Given the description of an element on the screen output the (x, y) to click on. 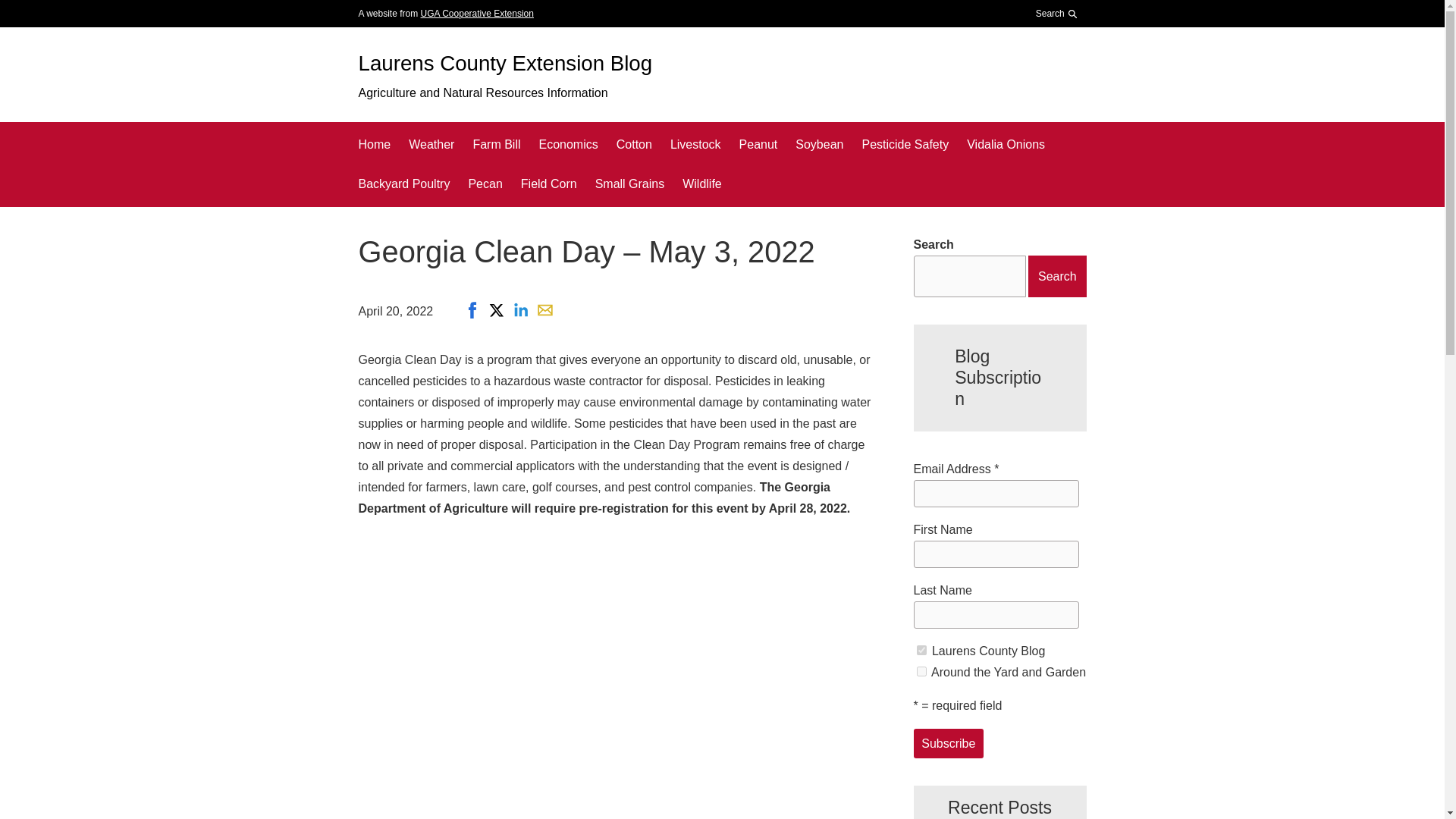
Pesticide Safety (905, 144)
Wildlife (702, 183)
Economics (567, 144)
Subscribe (948, 743)
cb9b200e51 (920, 650)
Share on Facebook, opens in new window (472, 310)
Cotton (633, 144)
Field Corn (548, 183)
Search (1053, 51)
Share with email, opens in email application (544, 310)
Pecan (484, 183)
Peanut (758, 144)
Home (374, 144)
Farm Bill (495, 144)
Share on X, opens in new window (496, 310)
